Given the description of an element on the screen output the (x, y) to click on. 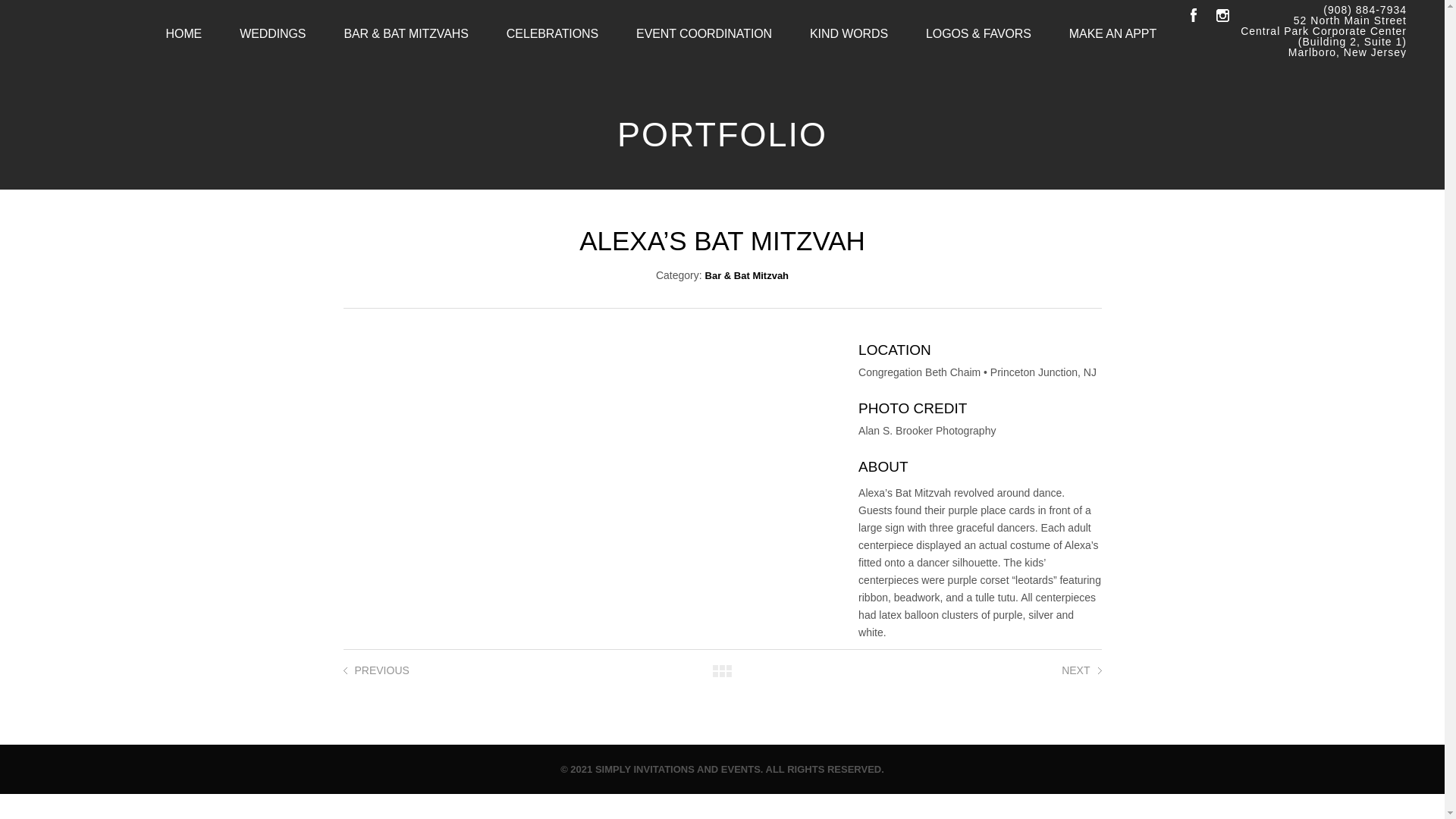
facebook (1193, 14)
KIND WORDS (848, 33)
PREVIOUS (382, 670)
MAKE AN APPT (1111, 33)
HOME (184, 33)
NEXT (1075, 670)
instagram (1222, 14)
WEDDINGS (272, 33)
CELEBRATIONS (552, 33)
EVENT COORDINATION (703, 33)
